Given the description of an element on the screen output the (x, y) to click on. 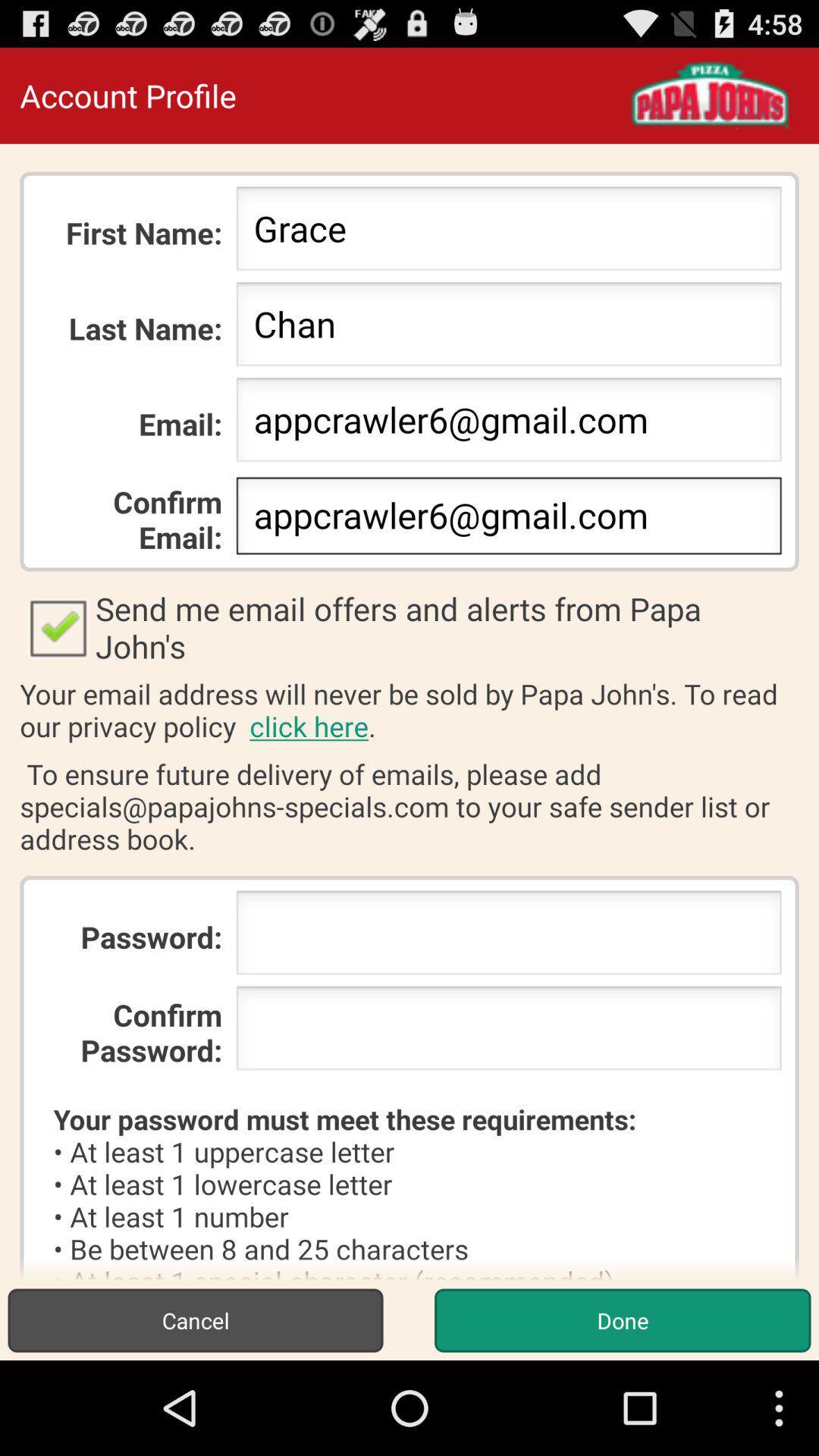
tap app above the your email address item (409, 627)
